Given the description of an element on the screen output the (x, y) to click on. 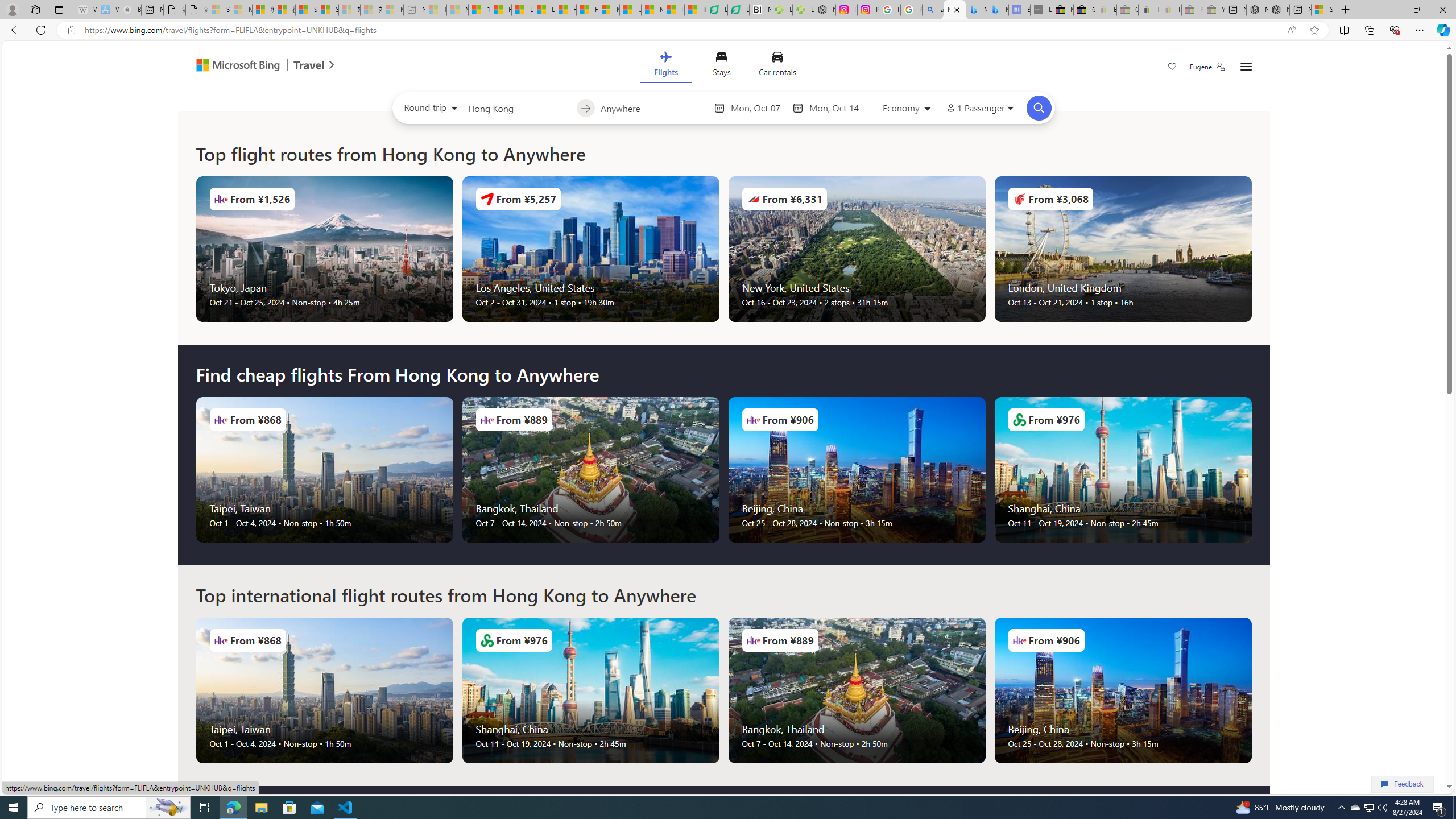
Food and Drink - MSN (500, 9)
to (584, 108)
Microsoft Bing (232, 65)
Click to scroll right (1251, 690)
